Given the description of an element on the screen output the (x, y) to click on. 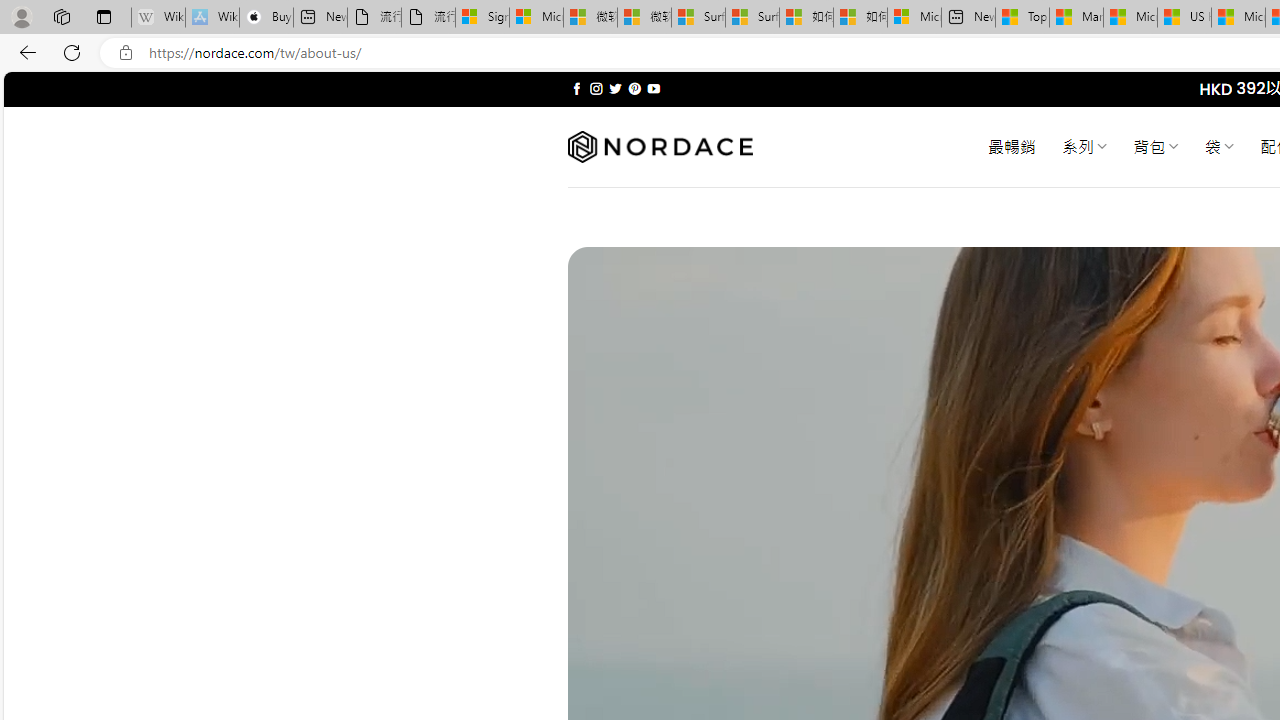
Follow on Facebook (576, 88)
Buy iPad - Apple (266, 17)
Top Stories - MSN (1022, 17)
